Given the description of an element on the screen output the (x, y) to click on. 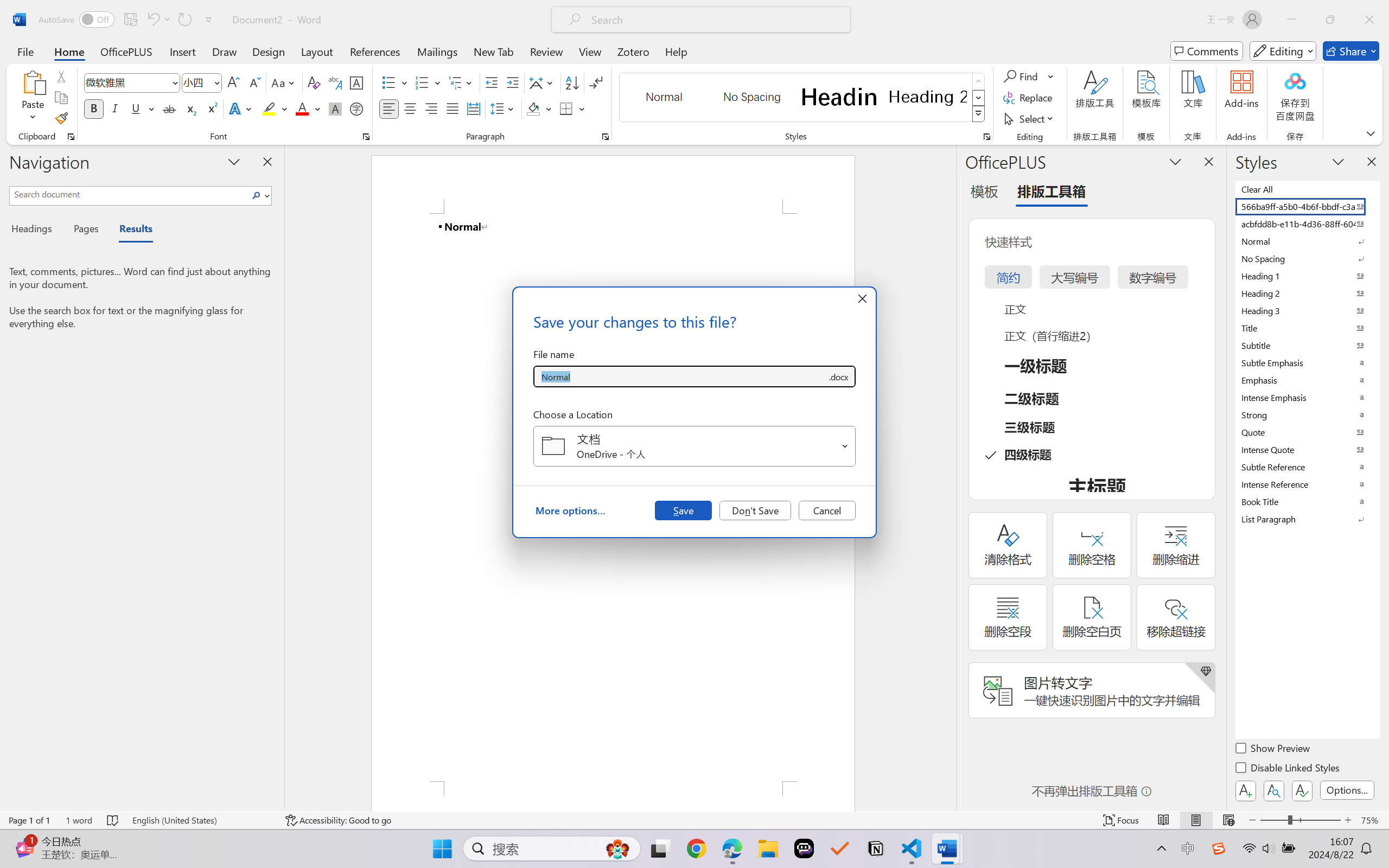
acbfdd8b-e11b-4d36-88ff-6049b138f862 (1306, 223)
File Tab (24, 51)
Text Highlight Color (274, 108)
Cancel (826, 509)
Center (409, 108)
Class: NetUIScrollBar (948, 477)
Search (259, 195)
Font... (365, 136)
Word Count 1 word (78, 819)
